Given the description of an element on the screen output the (x, y) to click on. 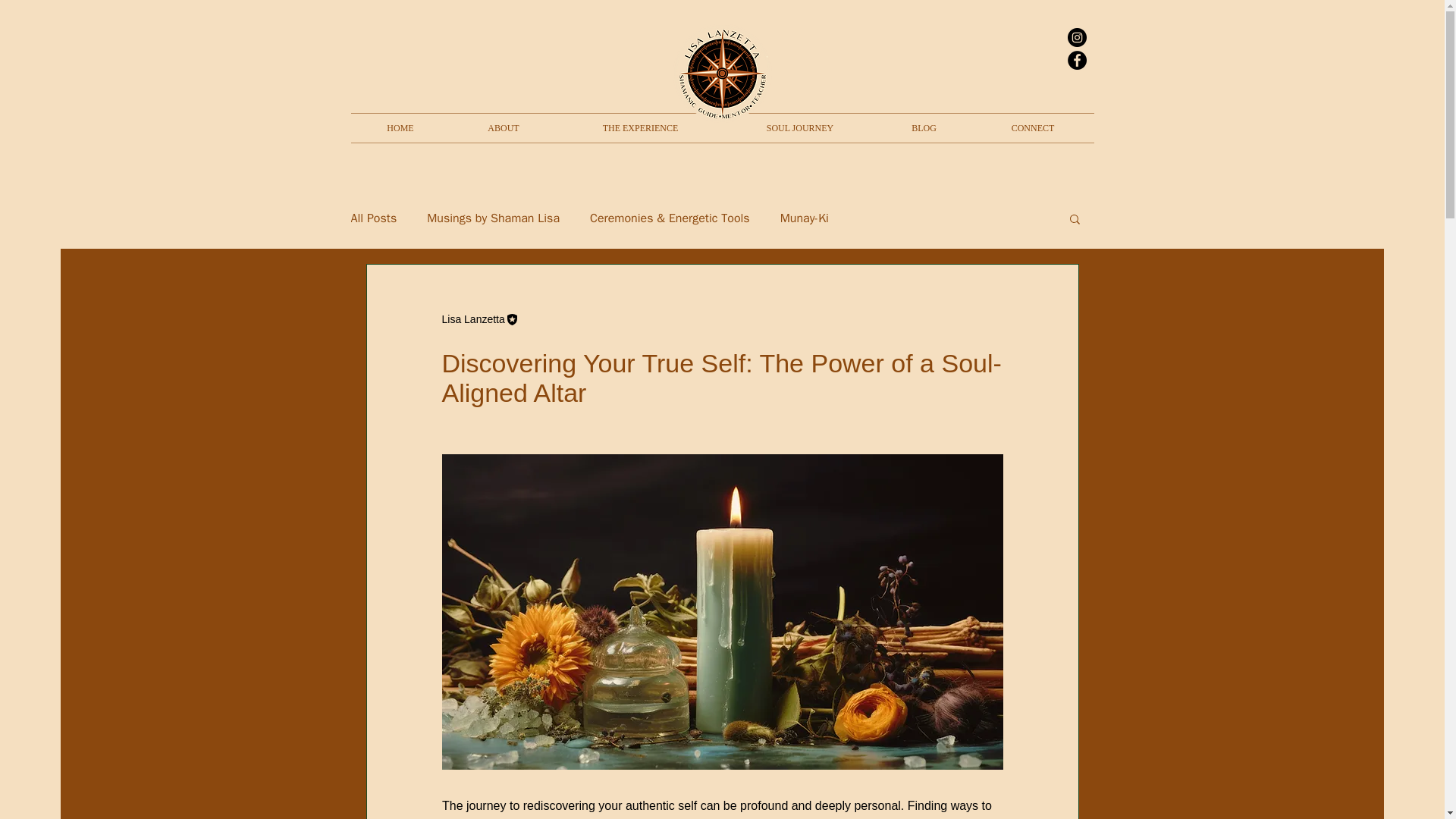
SOUL JOURNEY (799, 127)
Log In (1019, 48)
HOME (399, 127)
BLOG (924, 127)
CONNECT (1033, 127)
ABOUT (503, 127)
Munay-Ki (804, 218)
All Posts (373, 218)
Lisa Lanzetta (479, 318)
Lisa Lanzetta (472, 318)
THE EXPERIENCE (639, 127)
Musings by Shaman Lisa (492, 218)
